Given the description of an element on the screen output the (x, y) to click on. 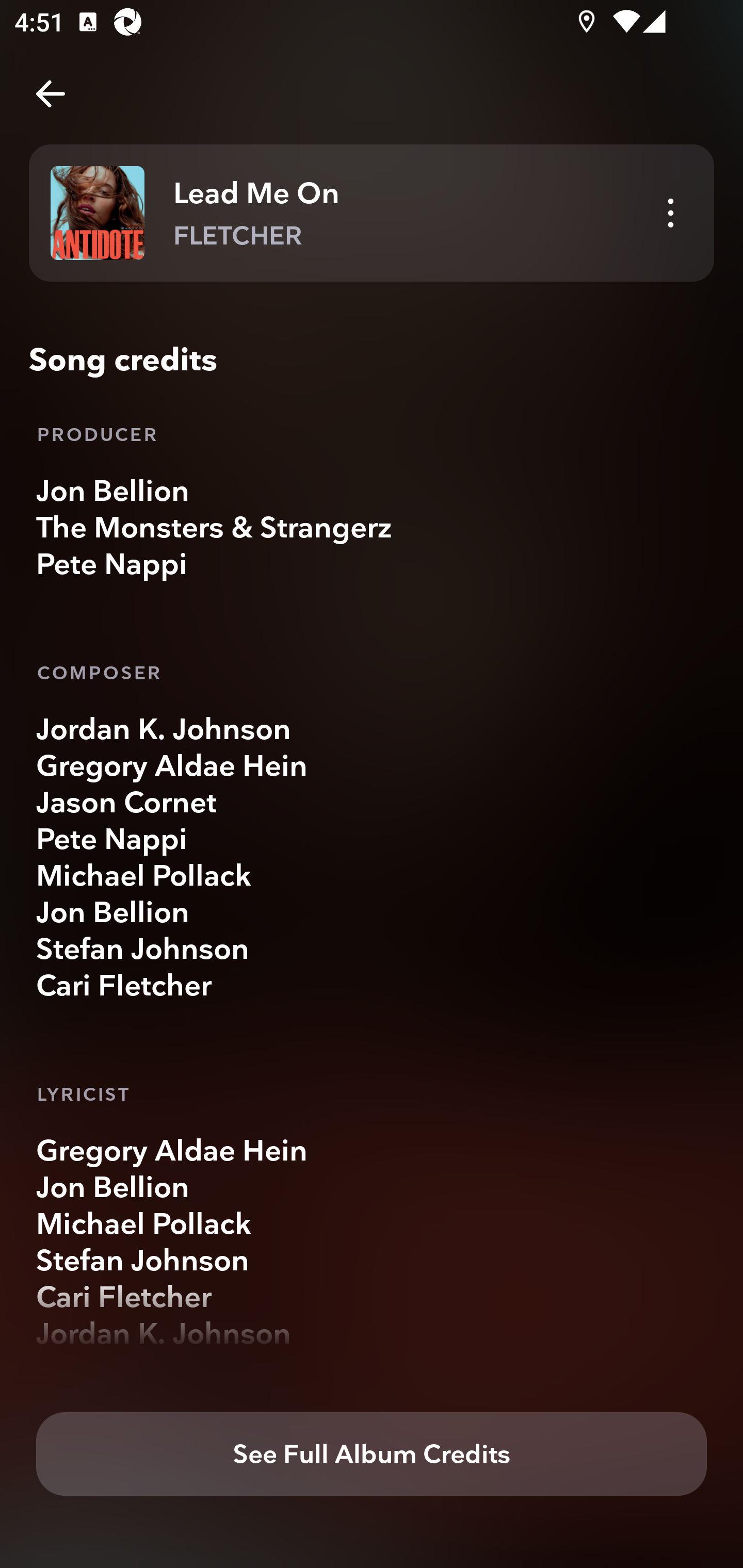
Lead Me On FLETCHER (371, 213)
See Full Album Credits (371, 1453)
